Given the description of an element on the screen output the (x, y) to click on. 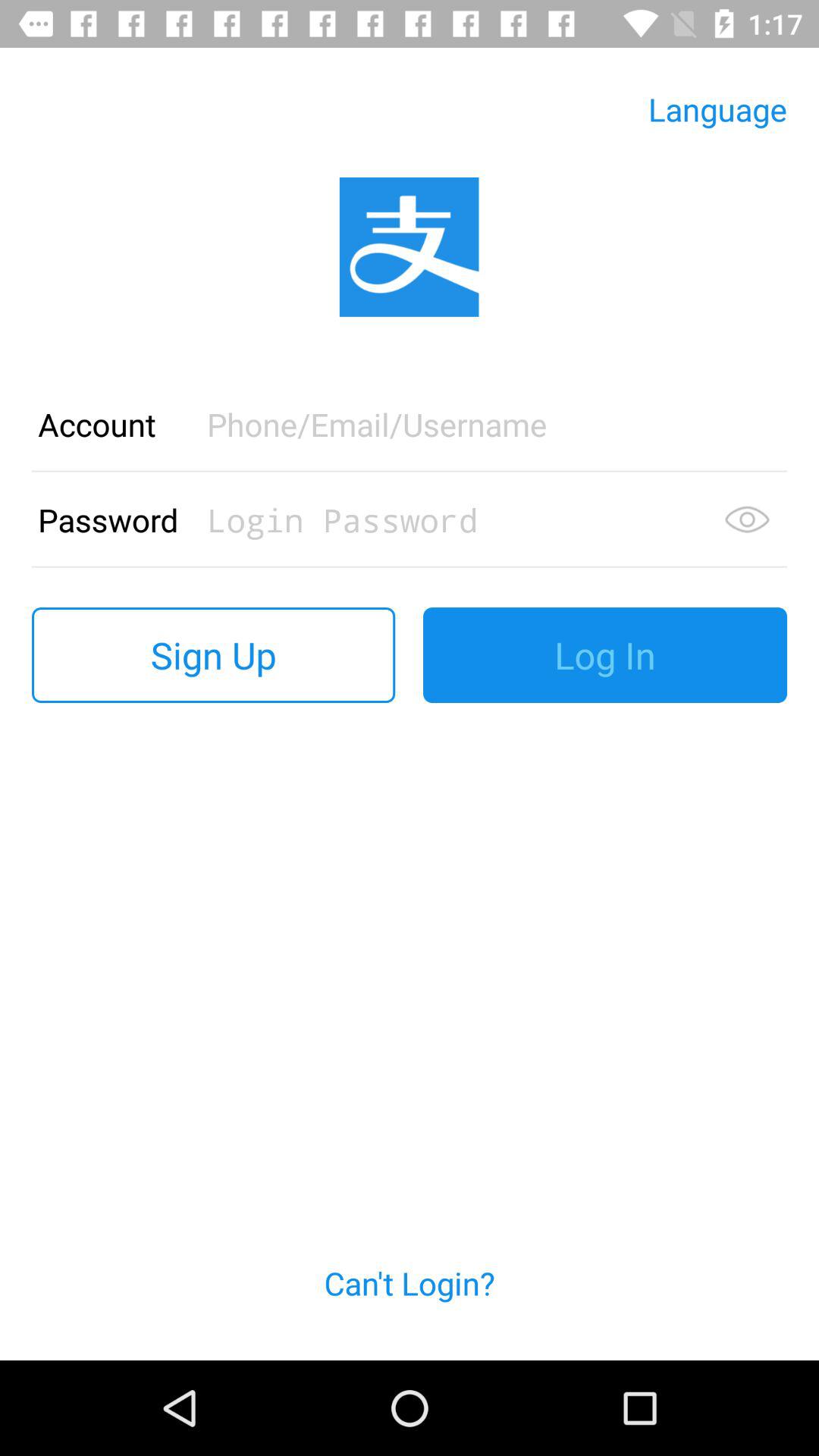
choose the item above can't login? app (213, 654)
